Given the description of an element on the screen output the (x, y) to click on. 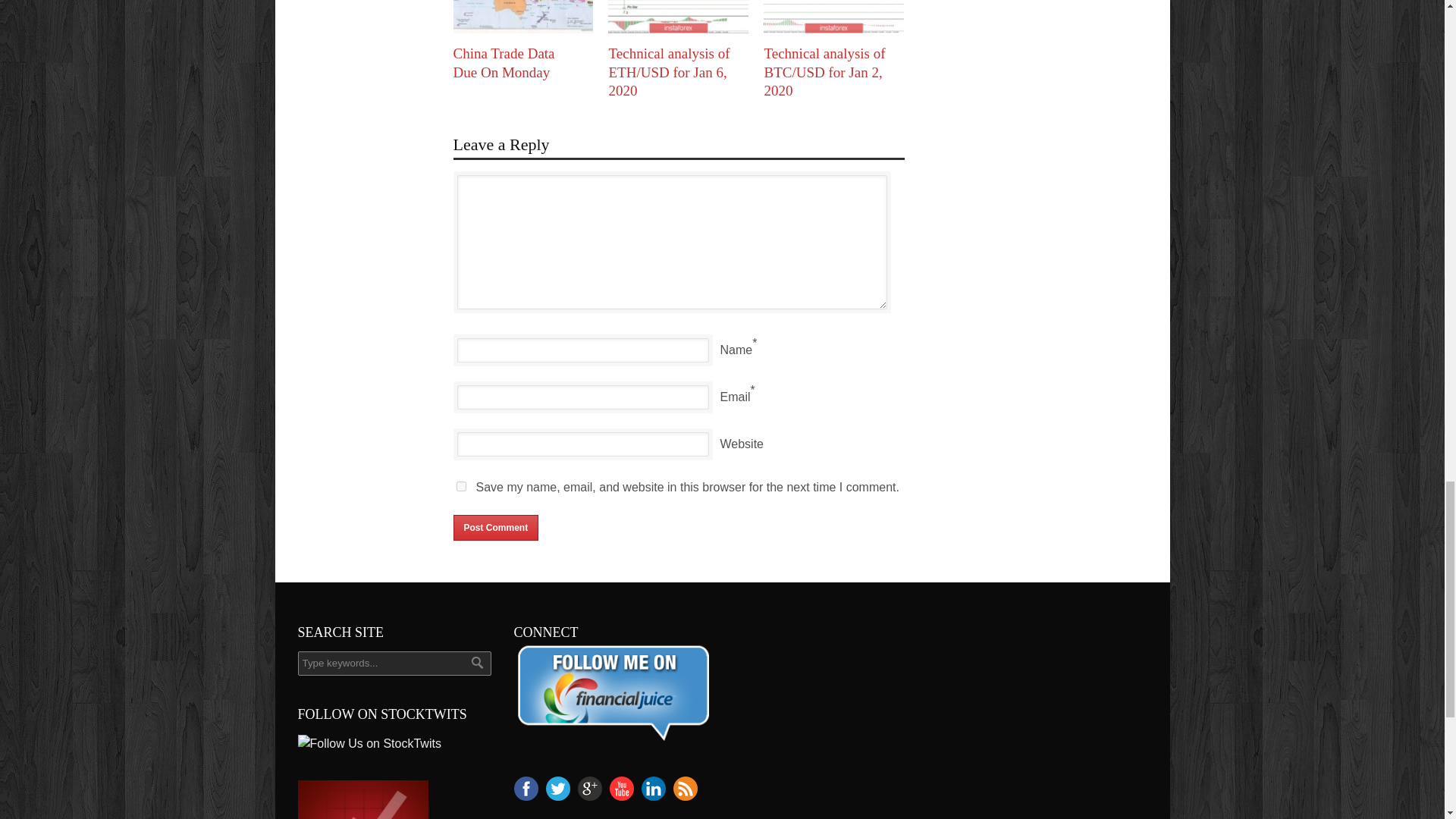
Type keywords... (393, 663)
Post Comment (495, 527)
yes (461, 486)
